Given the description of an element on the screen output the (x, y) to click on. 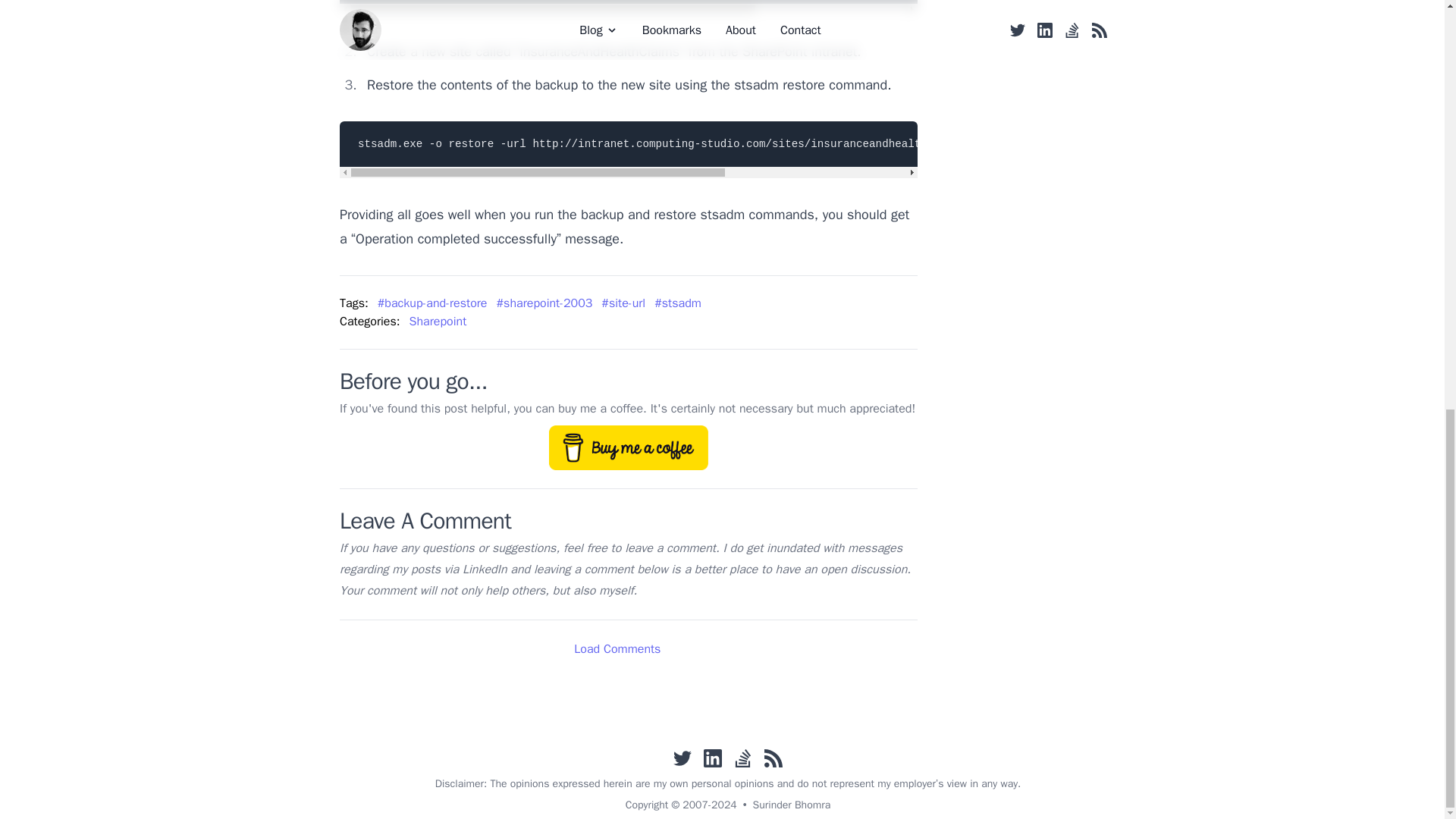
Load Comments (627, 648)
Sharepoint (442, 321)
rss (773, 758)
linkedin (712, 758)
twitter (681, 758)
stackoverflow (742, 758)
